Given the description of an element on the screen output the (x, y) to click on. 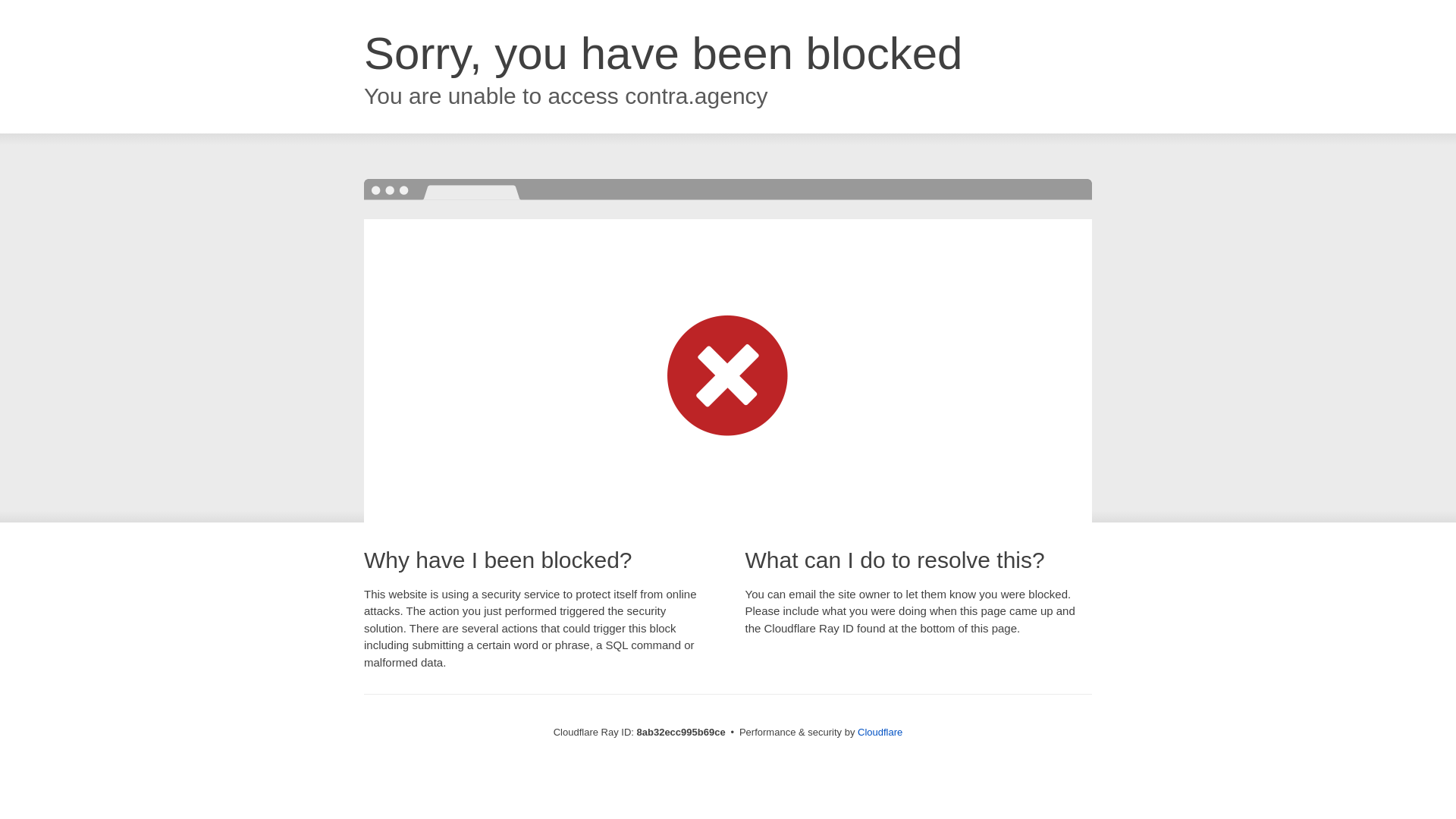
Cloudflare (879, 731)
